Given the description of an element on the screen output the (x, y) to click on. 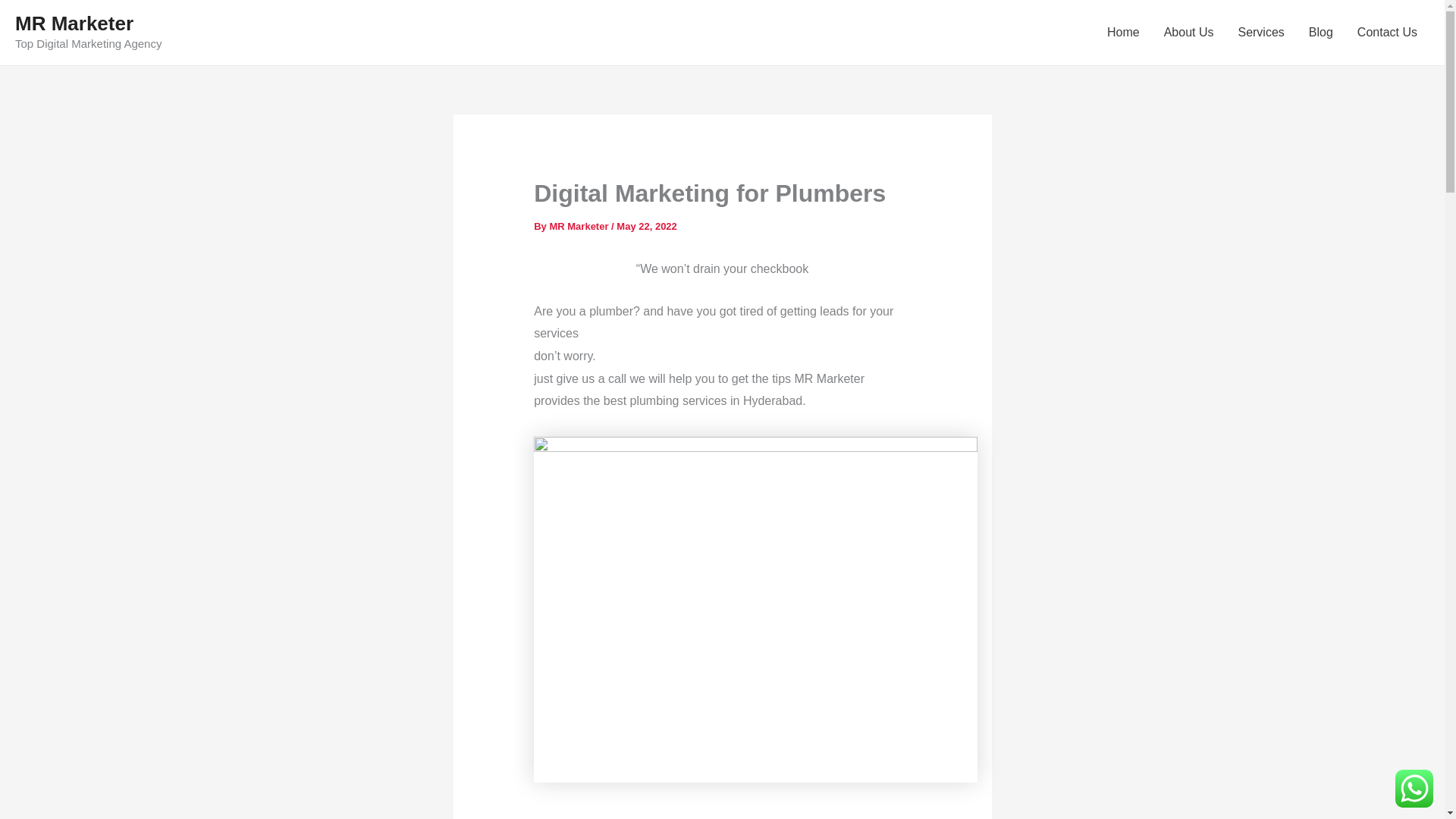
About Us (1188, 32)
View all posts by MR Marketer (579, 225)
MR Marketer (73, 23)
Contact Us (1387, 32)
Home (1122, 32)
Services (1260, 32)
Blog (1321, 32)
MR Marketer (579, 225)
